Given the description of an element on the screen output the (x, y) to click on. 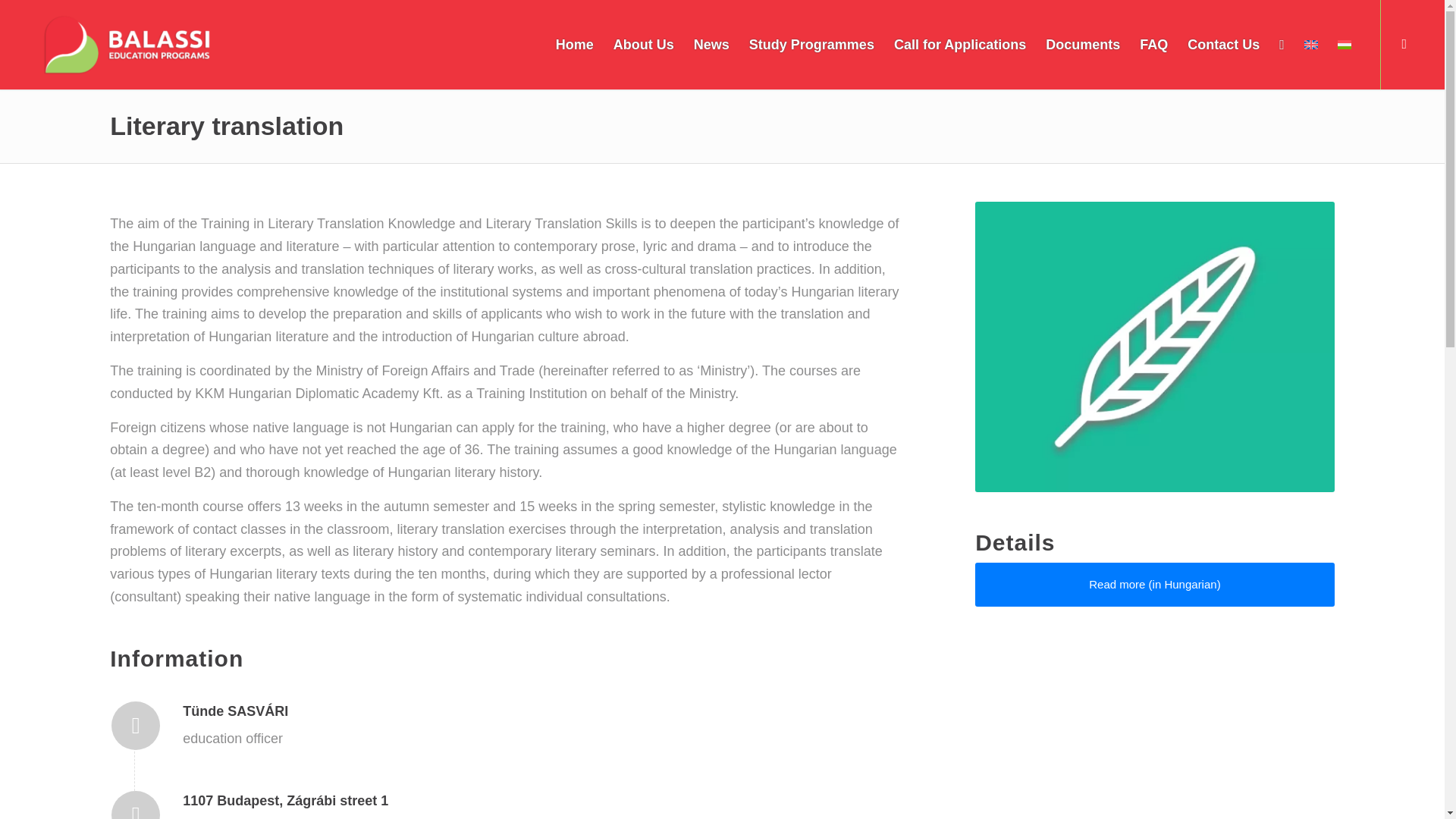
Literary translation (226, 125)
English (1310, 44)
Study Programmes (811, 44)
Permanent Link: Literary translation (226, 125)
Magyar (1344, 44)
Call for Applications (959, 44)
Facebook (1404, 43)
Contact Us (1223, 44)
Documents (1082, 44)
About Us (644, 44)
